Given the description of an element on the screen output the (x, y) to click on. 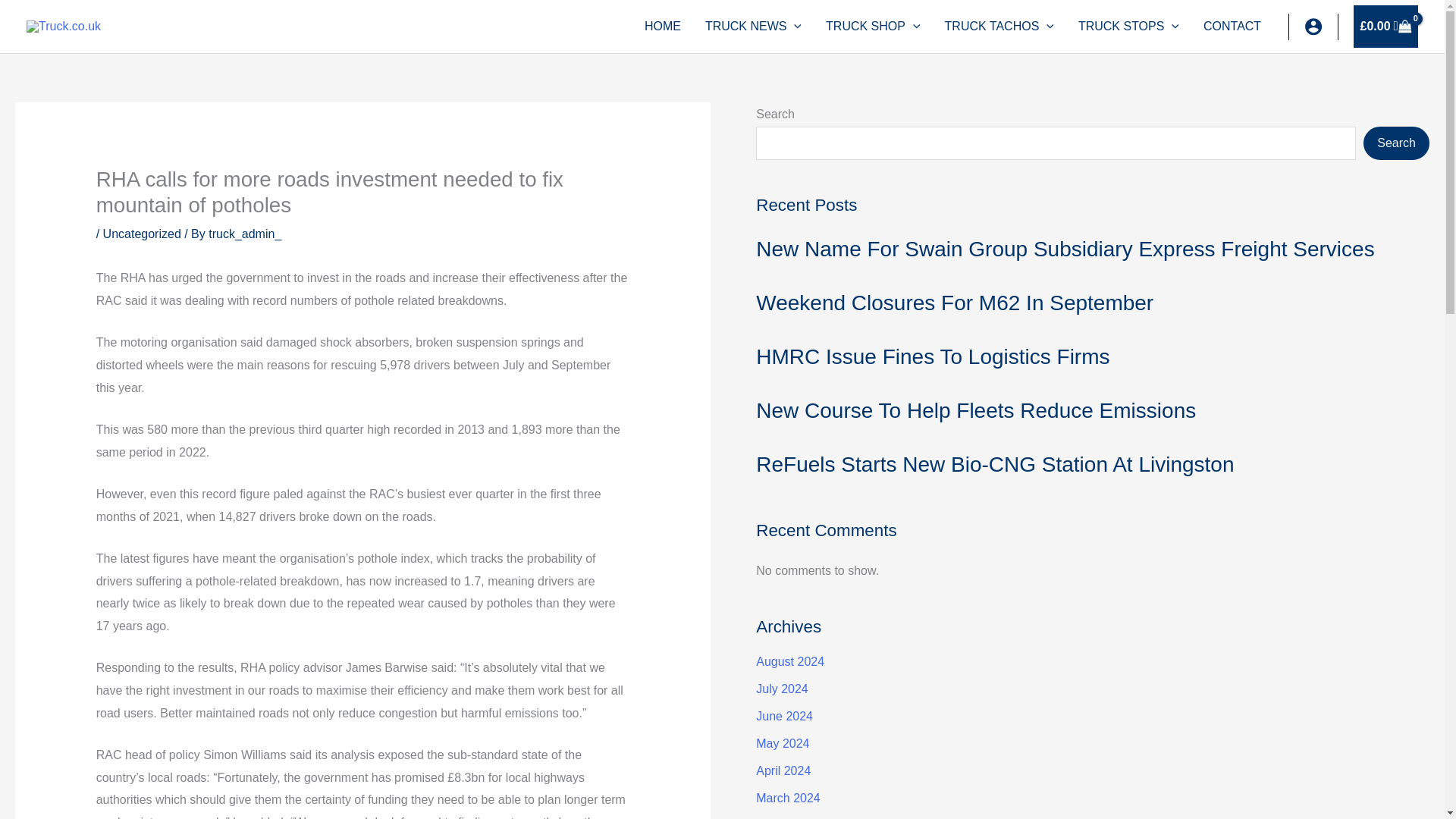
TRUCK TACHOS (999, 26)
TRUCK NEWS (753, 26)
CONTACT (1231, 26)
TRUCK SHOP (873, 26)
TRUCK STOPS (1128, 26)
HOME (662, 26)
